Given the description of an element on the screen output the (x, y) to click on. 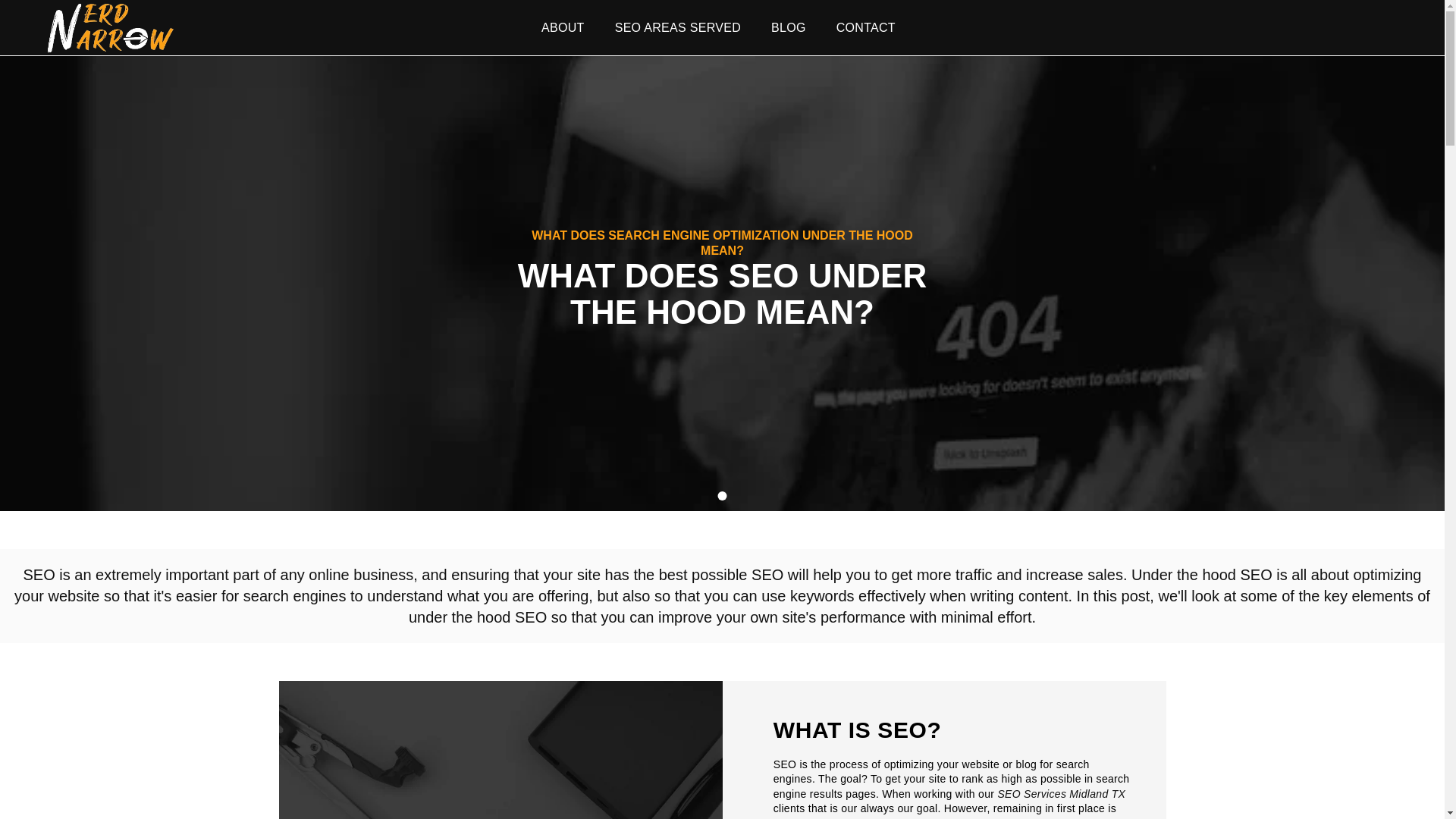
1 (721, 495)
ABOUT (562, 27)
SEO Services Midland TX (1061, 793)
CONTACT (866, 27)
NERD NARROW (109, 27)
BLOG (788, 27)
SEO Services Midland TX (1061, 793)
WHAT DOES SEARCH ENGINE OPTIMIZATION UNDER THE HOOD MEAN? (721, 243)
SEO AREAS SERVED (678, 27)
